Given the description of an element on the screen output the (x, y) to click on. 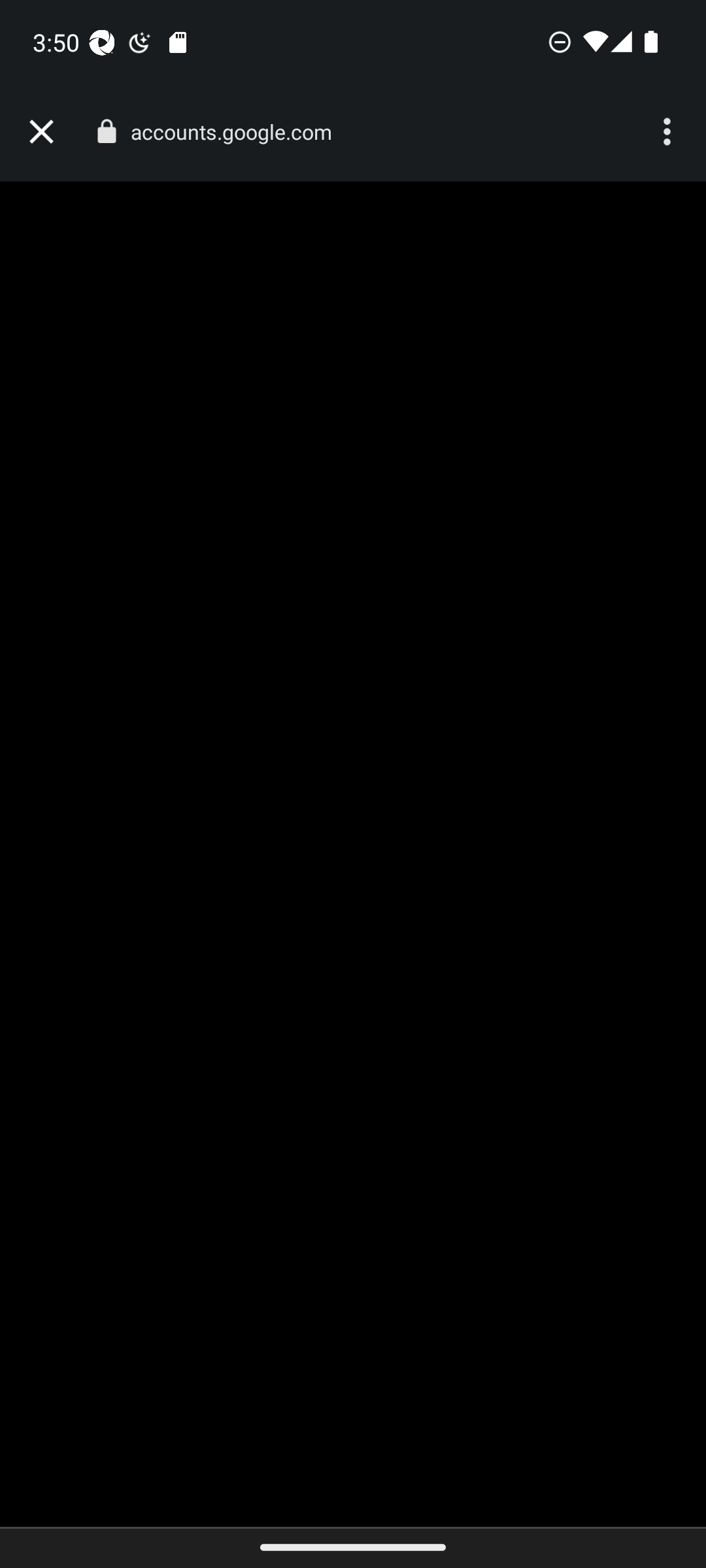
Close tab (41, 131)
More options (669, 131)
Connection is secure (106, 131)
accounts.google.com (237, 131)
